Given the description of an element on the screen output the (x, y) to click on. 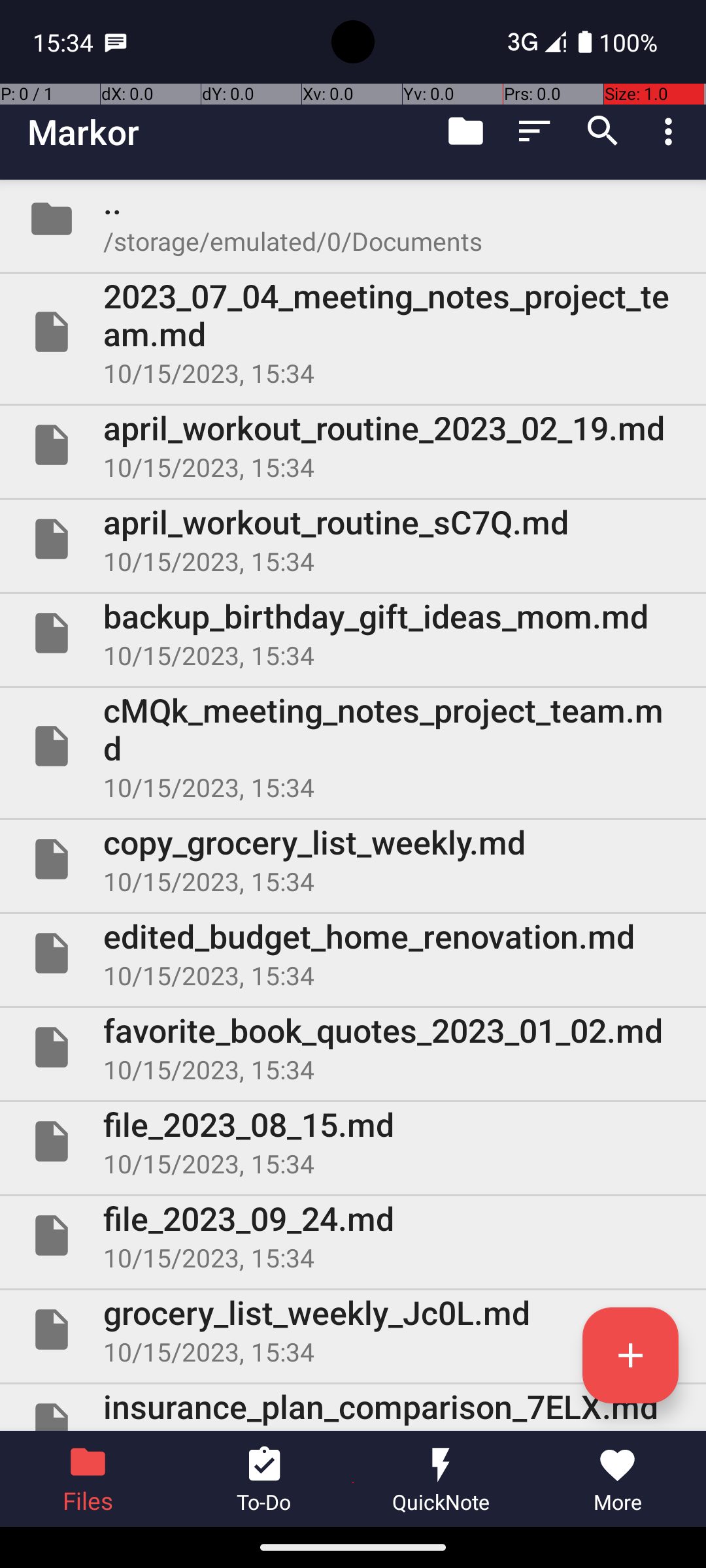
File 2023_07_04_meeting_notes_project_team.md  Element type: android.widget.LinearLayout (353, 331)
File april_workout_routine_2023_02_19.md  Element type: android.widget.LinearLayout (353, 444)
File april_workout_routine_sC7Q.md  Element type: android.widget.LinearLayout (353, 538)
File backup_birthday_gift_ideas_mom.md  Element type: android.widget.LinearLayout (353, 632)
File cMQk_meeting_notes_project_team.md  Element type: android.widget.LinearLayout (353, 745)
File copy_grocery_list_weekly.md  Element type: android.widget.LinearLayout (353, 858)
File edited_budget_home_renovation.md  Element type: android.widget.LinearLayout (353, 953)
File favorite_book_quotes_2023_01_02.md  Element type: android.widget.LinearLayout (353, 1047)
File file_2023_08_15.md  Element type: android.widget.LinearLayout (353, 1141)
File file_2023_09_24.md  Element type: android.widget.LinearLayout (353, 1235)
File grocery_list_weekly_Jc0L.md  Element type: android.widget.LinearLayout (353, 1329)
File insurance_plan_comparison_7ELX.md  Element type: android.widget.LinearLayout (353, 1407)
